Given the description of an element on the screen output the (x, y) to click on. 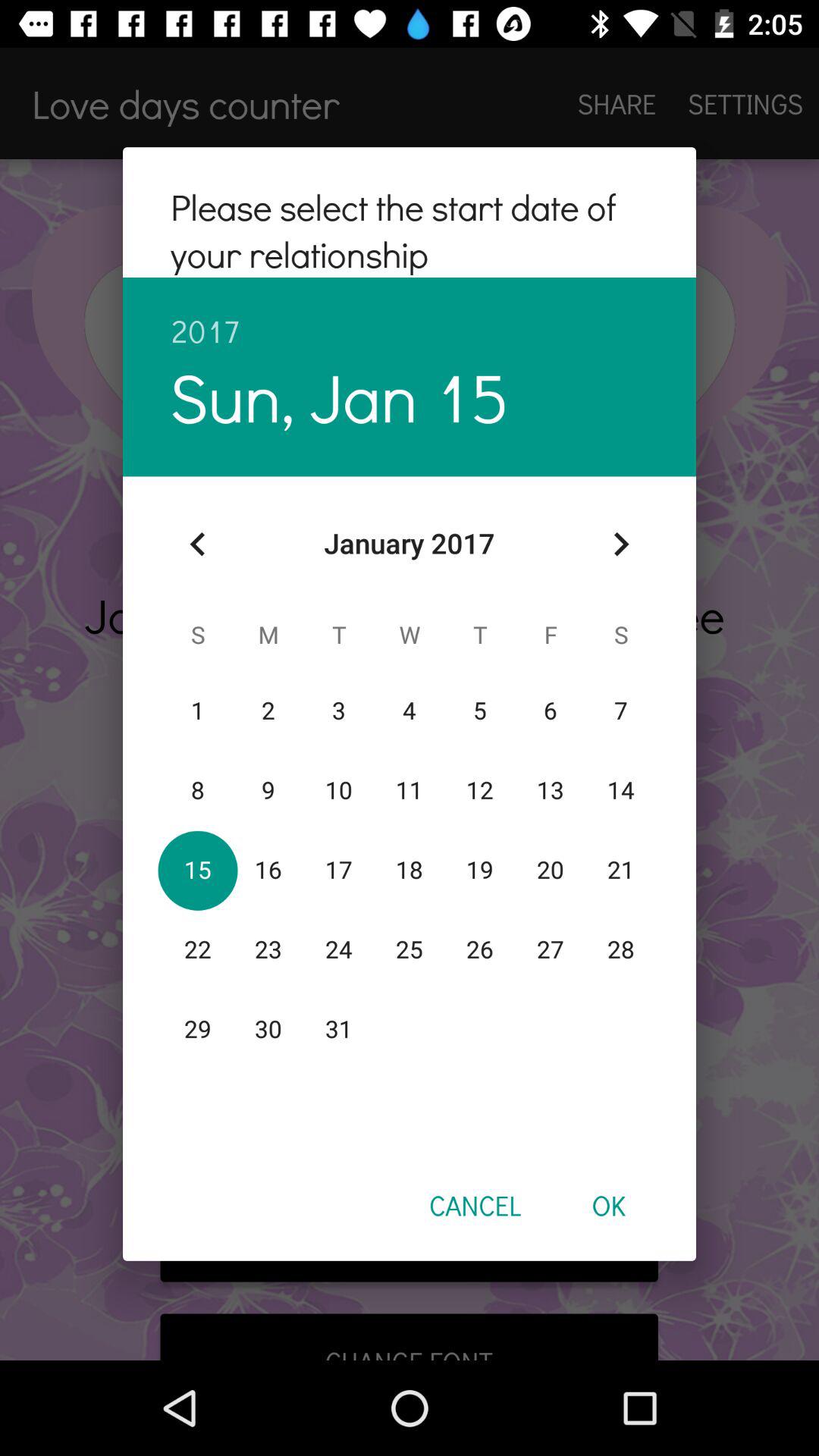
launch the item next to the ok icon (474, 1204)
